Given the description of an element on the screen output the (x, y) to click on. 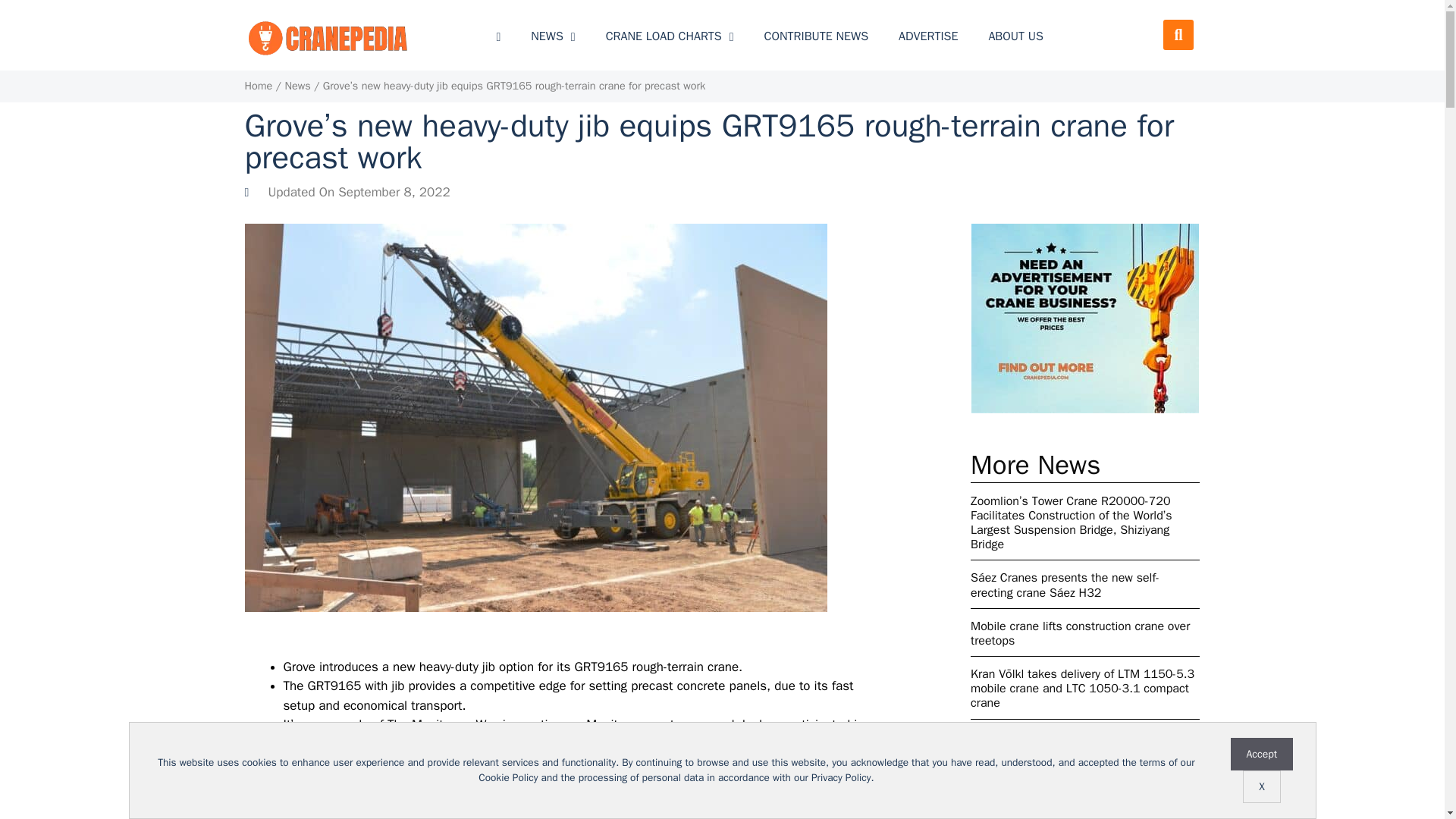
NEWS (552, 36)
ABOUT US (1015, 36)
Liebherr LTM 1300-6.3 is becoming the LTM 1300-6.4 (1085, 792)
ADVERTISE (927, 36)
Northbank Civil and Marine Purchases Tadano GTC-1600 (1085, 744)
CONTRIBUTE NEWS (816, 36)
CRANE LOAD CHARTS (670, 36)
Mobile crane lifts construction crane over treetops (1085, 633)
